Given the description of an element on the screen output the (x, y) to click on. 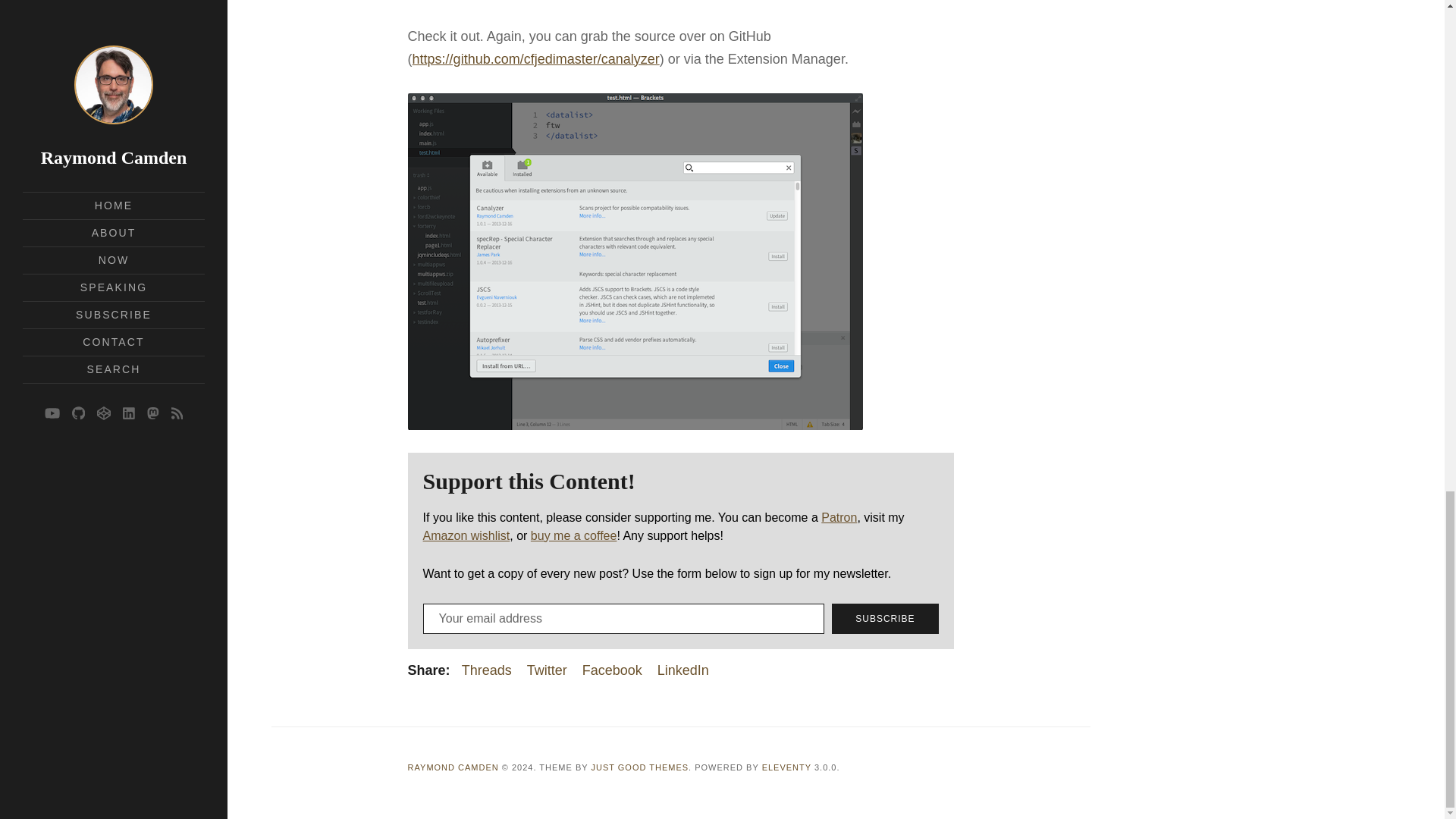
Amazon wishlist (467, 535)
buy me a coffee (574, 535)
JUST GOOD THEMES (639, 767)
LinkedIn (683, 670)
SUBSCRIBE (884, 618)
Patron (839, 517)
RAYMOND CAMDEN (453, 767)
ELEVENTY (785, 767)
Facebook (612, 670)
Twitter (547, 670)
